Given the description of an element on the screen output the (x, y) to click on. 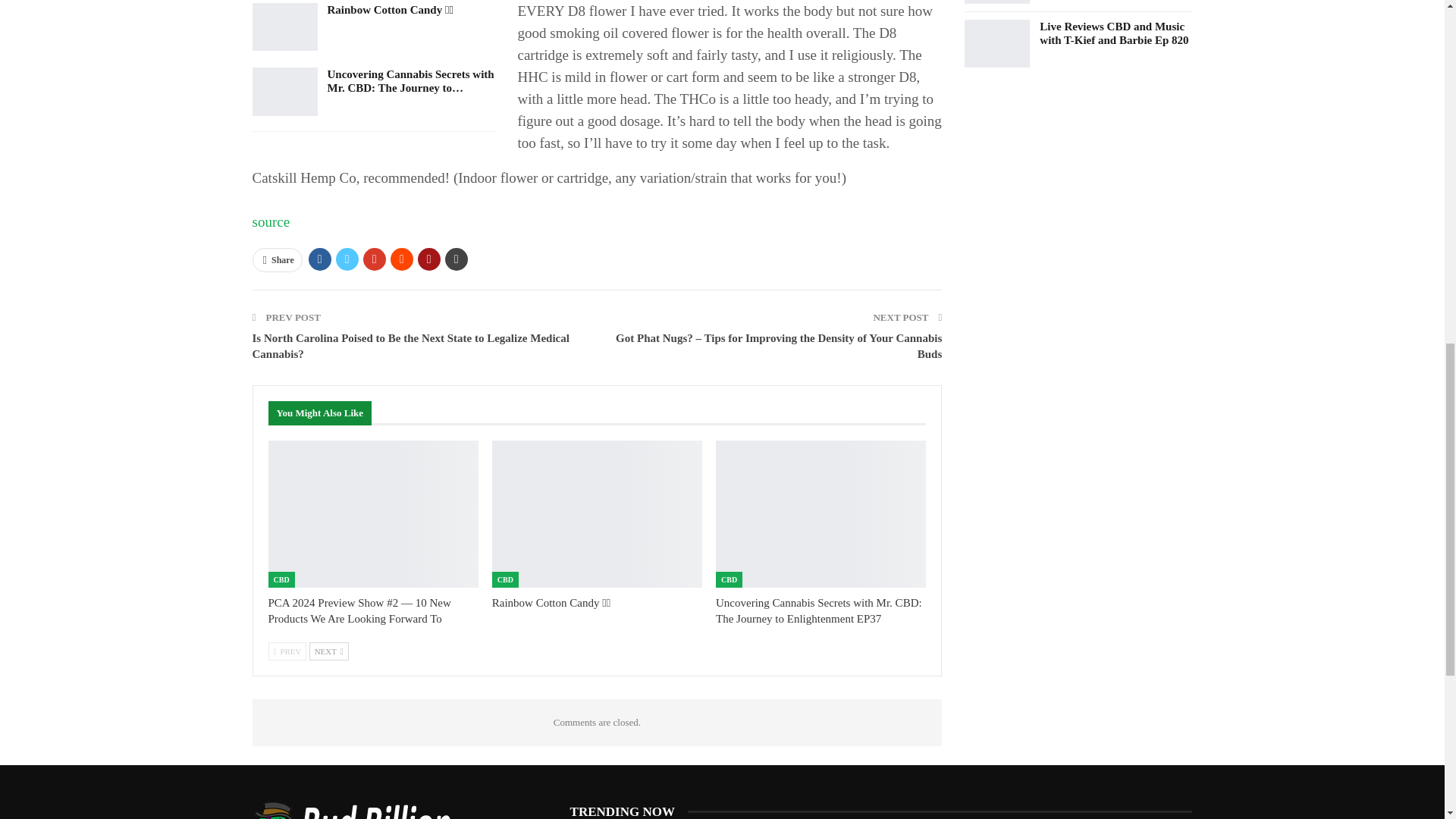
source (270, 221)
Next (328, 651)
Previous (287, 651)
